Given the description of an element on the screen output the (x, y) to click on. 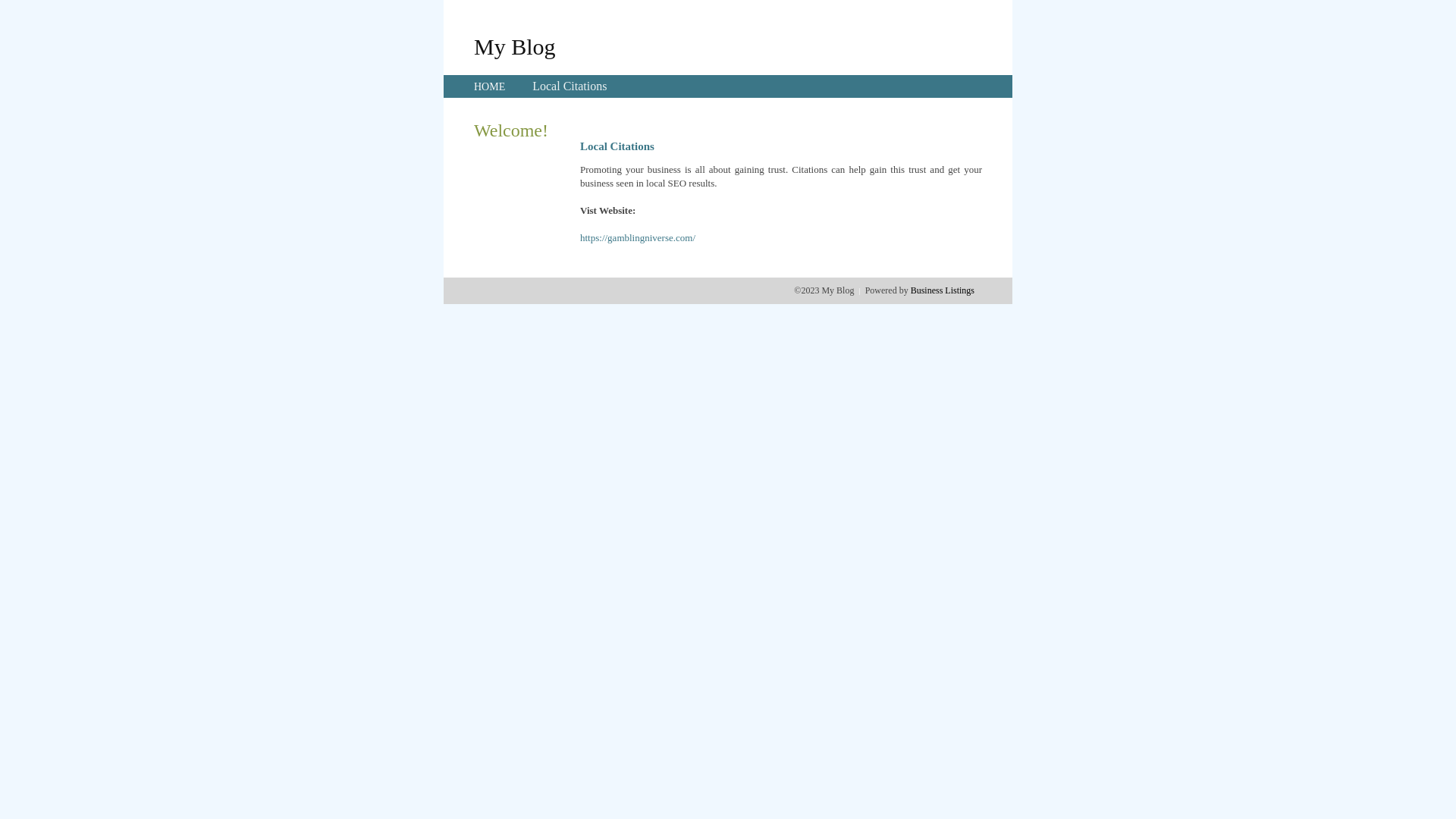
Local Citations Element type: text (569, 85)
My Blog Element type: text (514, 46)
Business Listings Element type: text (942, 290)
HOME Element type: text (489, 86)
https://gamblingniverse.com/ Element type: text (637, 237)
